Given the description of an element on the screen output the (x, y) to click on. 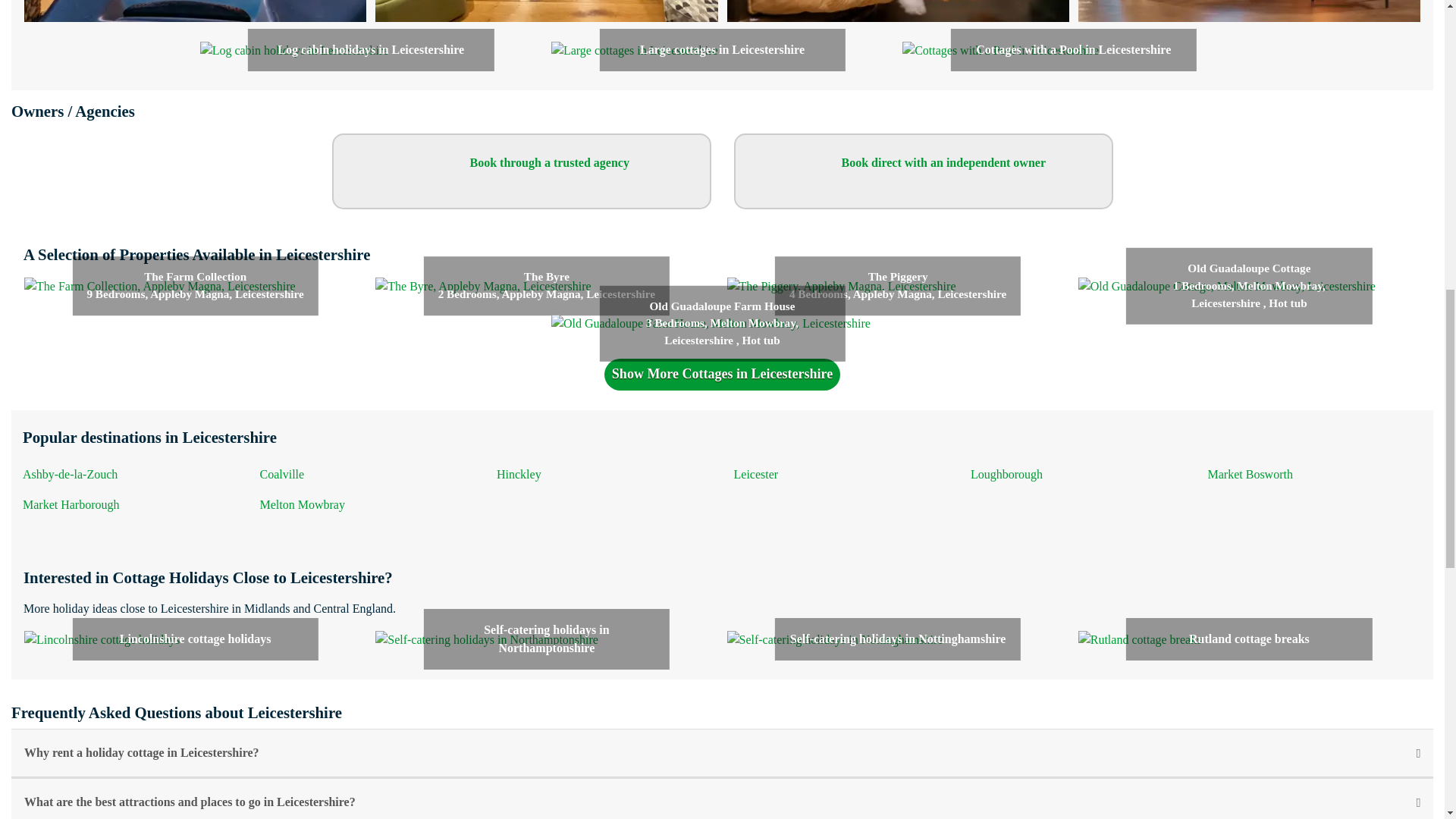
Luxury cottages in Leicestershire (546, 11)
Log cabin holidays in Leicestershire (294, 50)
Log cabin holidays in Leicestershire (294, 48)
Hot Tub Cottages in Leicestershire (195, 11)
Pet friendly self catering cottages in Leicestershire (897, 11)
Cottages for 2 in Leicestershire (1249, 11)
